Given the description of an element on the screen output the (x, y) to click on. 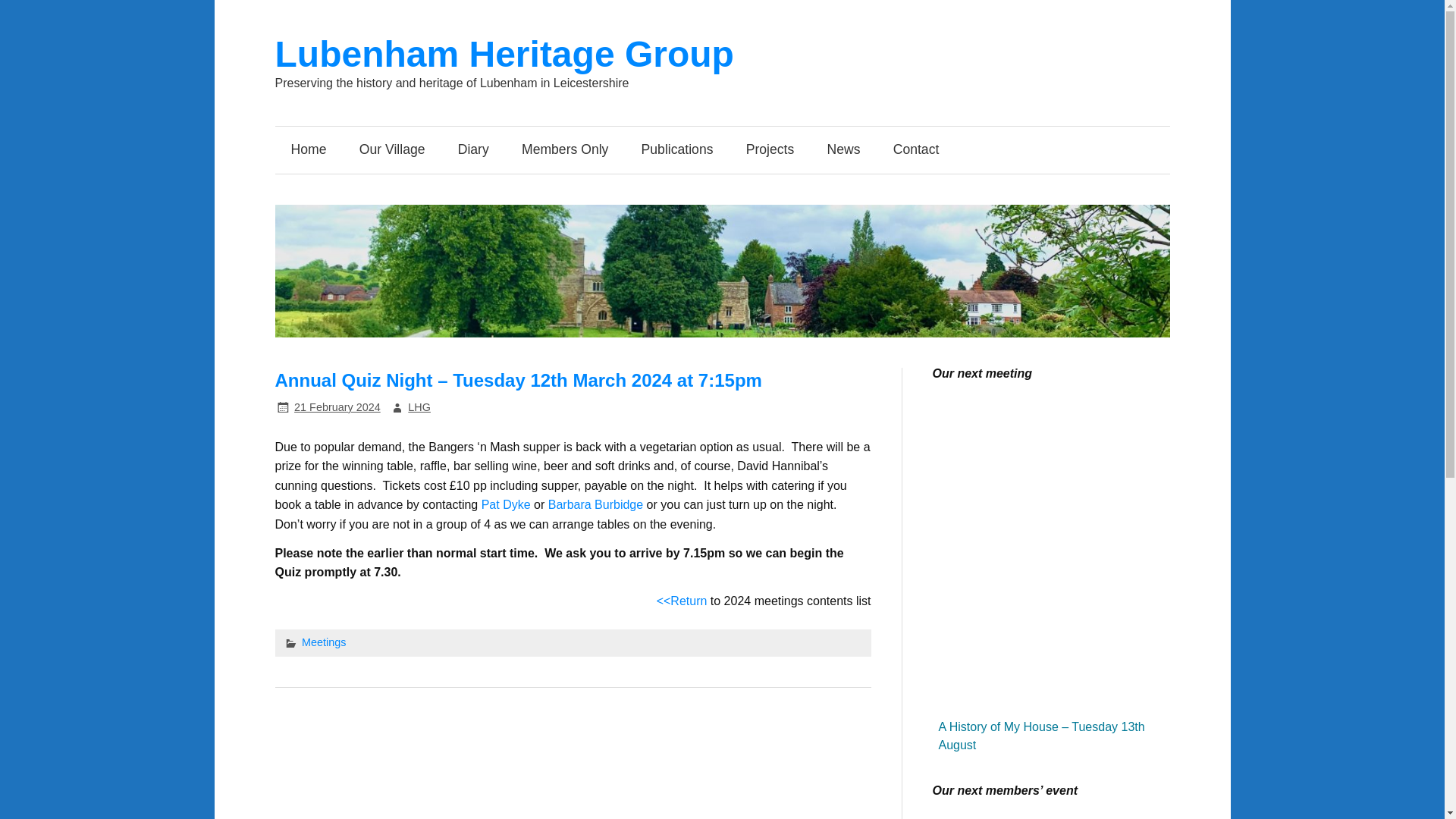
Barbara Burbidge (595, 504)
View all posts by LHG (418, 407)
News (843, 149)
Members Only (564, 149)
Our Village (392, 149)
8:03 pm (337, 407)
LHG (418, 407)
Projects (770, 149)
Diary (473, 149)
Publications (676, 149)
Lubenham Heritage Group (504, 54)
Lubenham Heritage Group (504, 54)
Pat Dyke (506, 504)
Home (308, 149)
Meetings (323, 642)
